Given the description of an element on the screen output the (x, y) to click on. 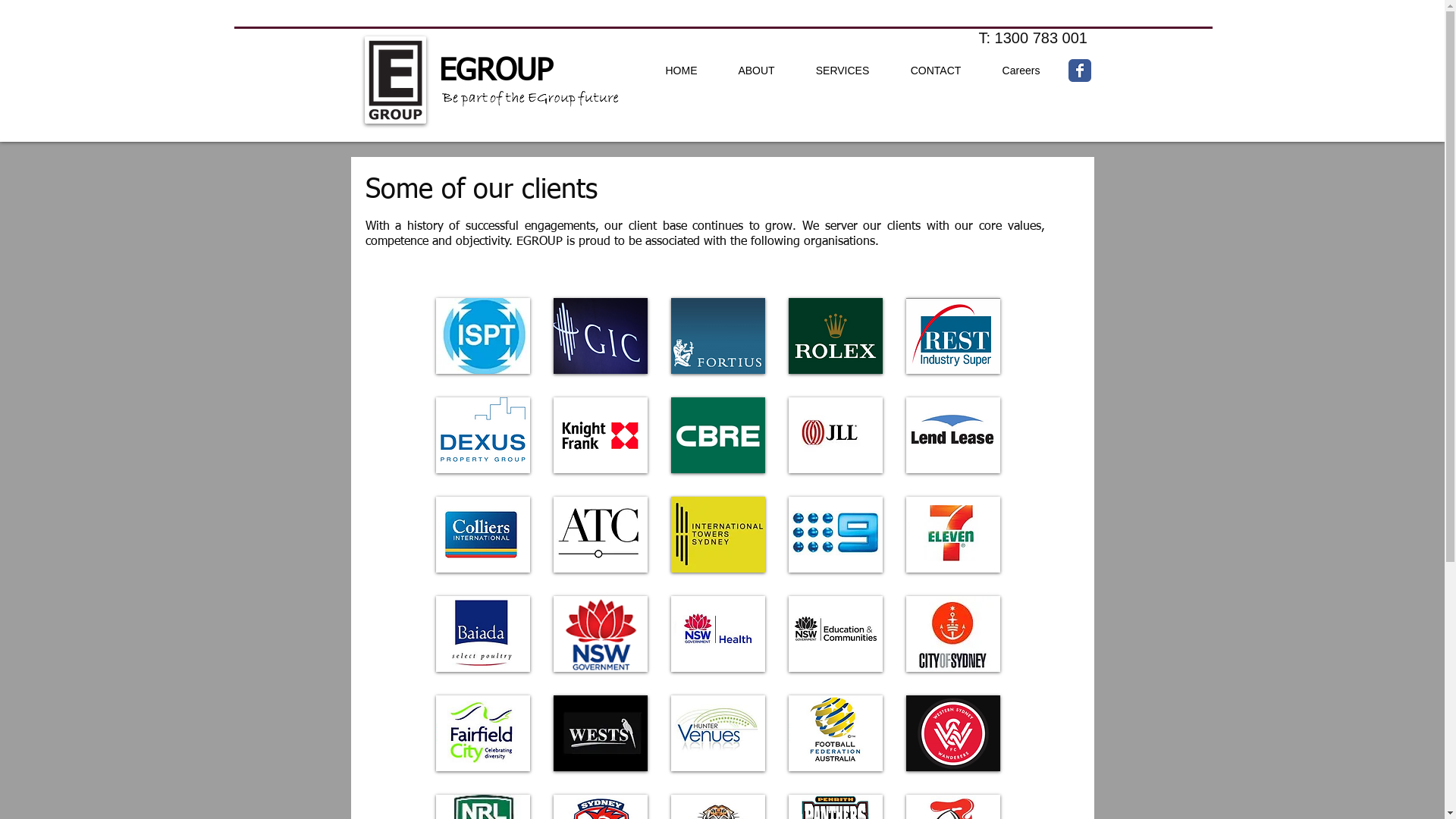
Facebook Like Element type: hover (974, 106)
ABOUT Element type: text (755, 70)
CONTACT Element type: text (936, 70)
HOME Element type: text (680, 70)
Embedded Content Element type: hover (1206, 581)
E-Group-Bk-Lge.png Element type: hover (394, 79)
EGROUP Element type: text (495, 71)
SERVICES Element type: text (841, 70)
